Given the description of an element on the screen output the (x, y) to click on. 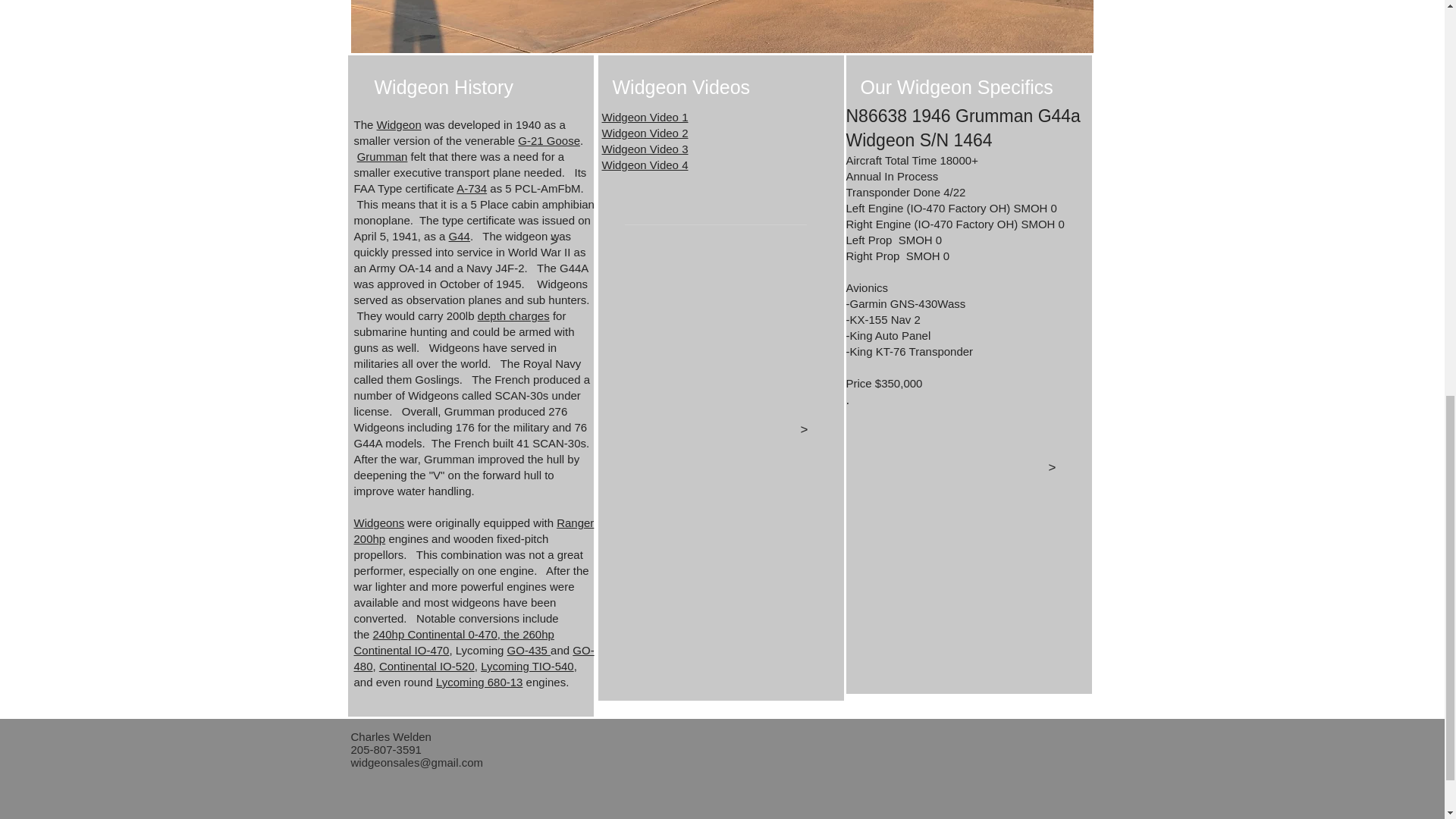
Grumman (381, 155)
depth charges (513, 315)
GO-435  (528, 649)
Ranger 200hp (473, 530)
Widgeon Video 1 (645, 116)
Widgeons (378, 522)
Widgeon (399, 124)
G44 (459, 236)
Widgeon Video 2 (645, 132)
Lycoming TIO-540 (526, 666)
240hp Continental 0-470, the 260hp Continental IO-470 (453, 642)
A-734 (471, 187)
Widgeon Video 3 (645, 148)
Widgeon Video 4 (645, 164)
Lycoming 680-13 (478, 681)
